Given the description of an element on the screen output the (x, y) to click on. 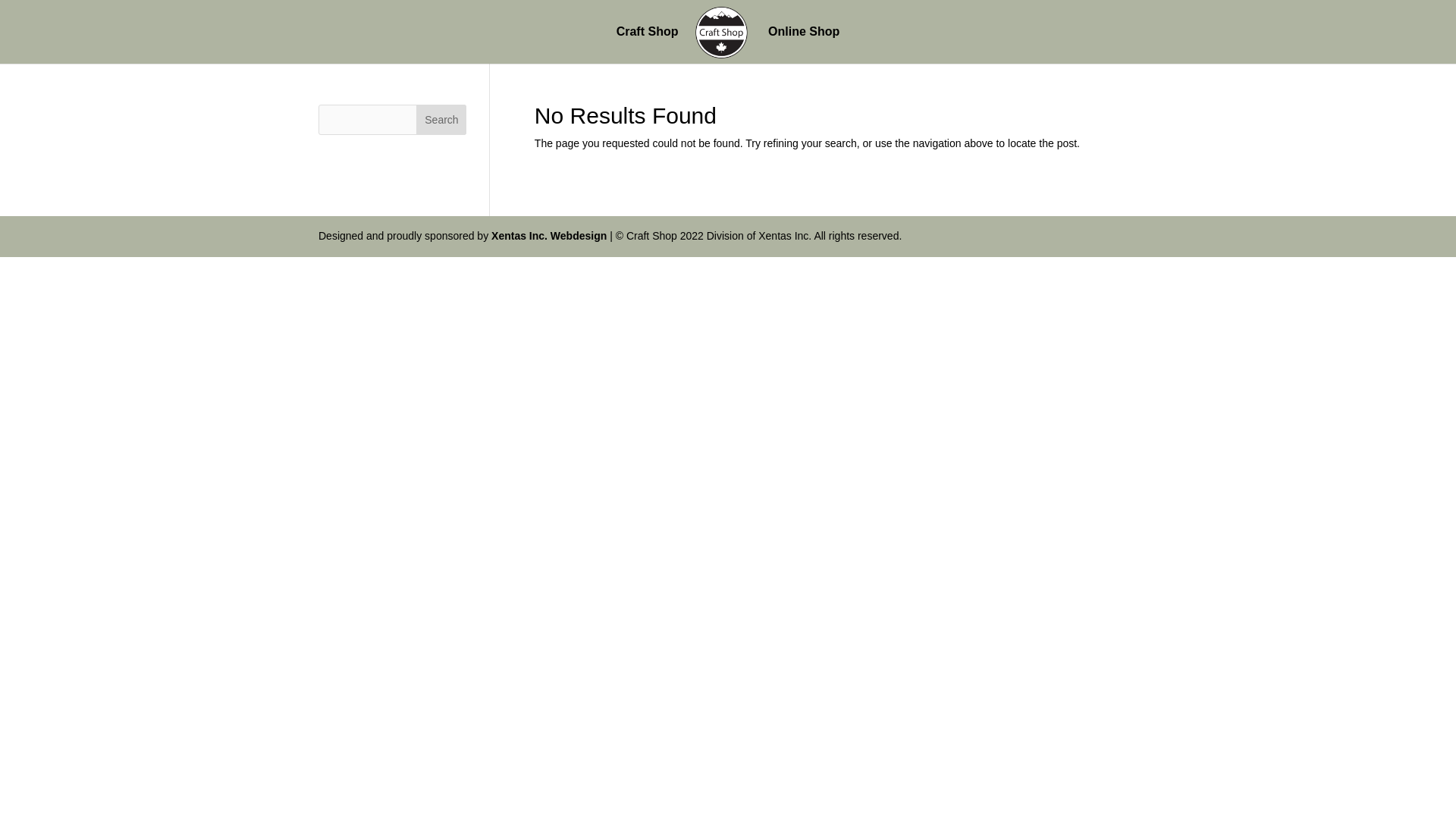
Search (440, 119)
Online Shop (804, 44)
Craft Shop (646, 44)
Xentas Inc. Webdesign (549, 235)
